Given the description of an element on the screen output the (x, y) to click on. 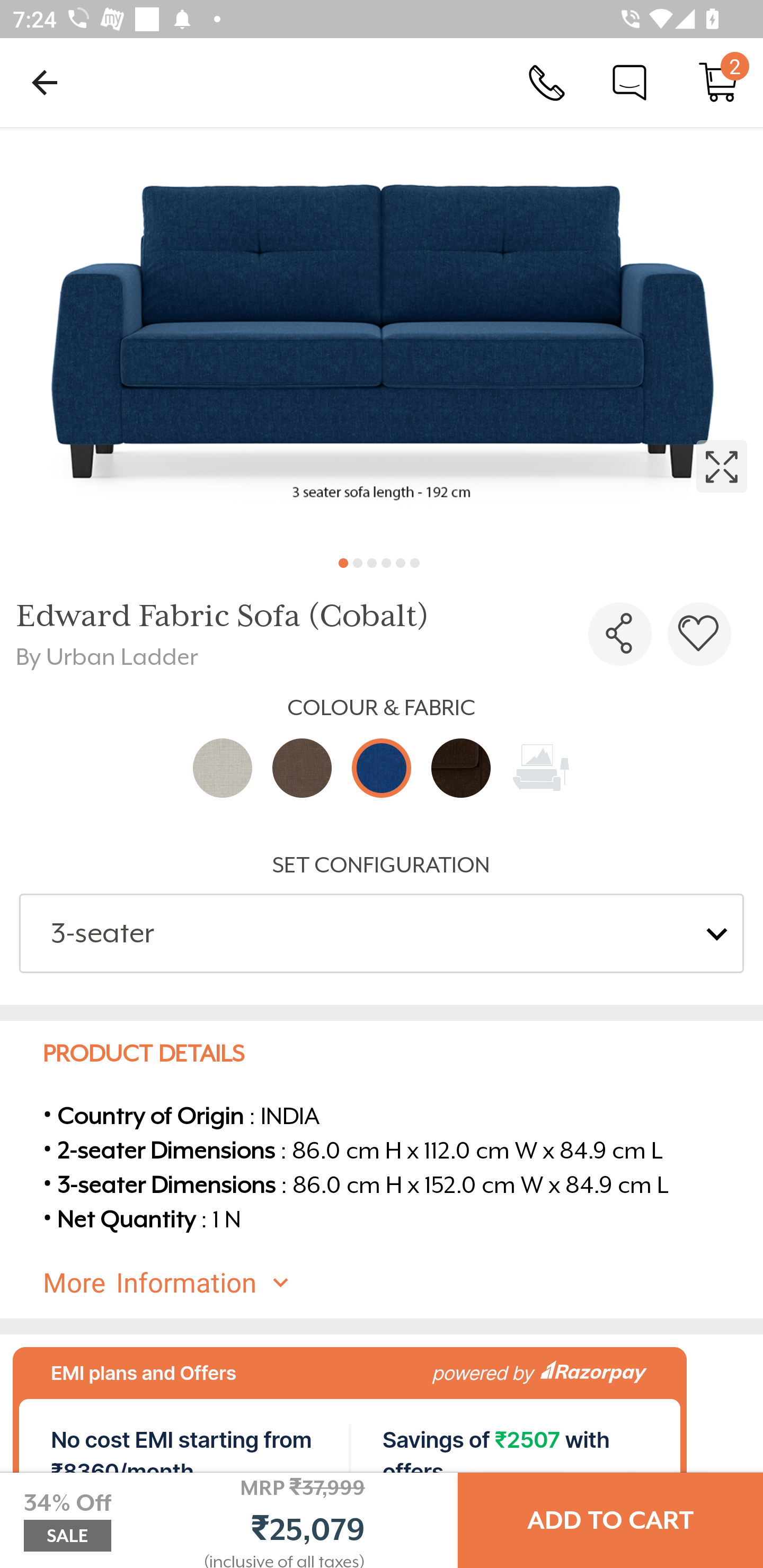
Navigate up (44, 82)
Call Us (546, 81)
Chat (629, 81)
Cart (718, 81)
 (381, 334)
 (619, 634)
 (698, 634)
SET CONFIGURATION 3-seater  (381, 912)
More Information  (396, 1282)
ADD TO CART (610, 1520)
